Given the description of an element on the screen output the (x, y) to click on. 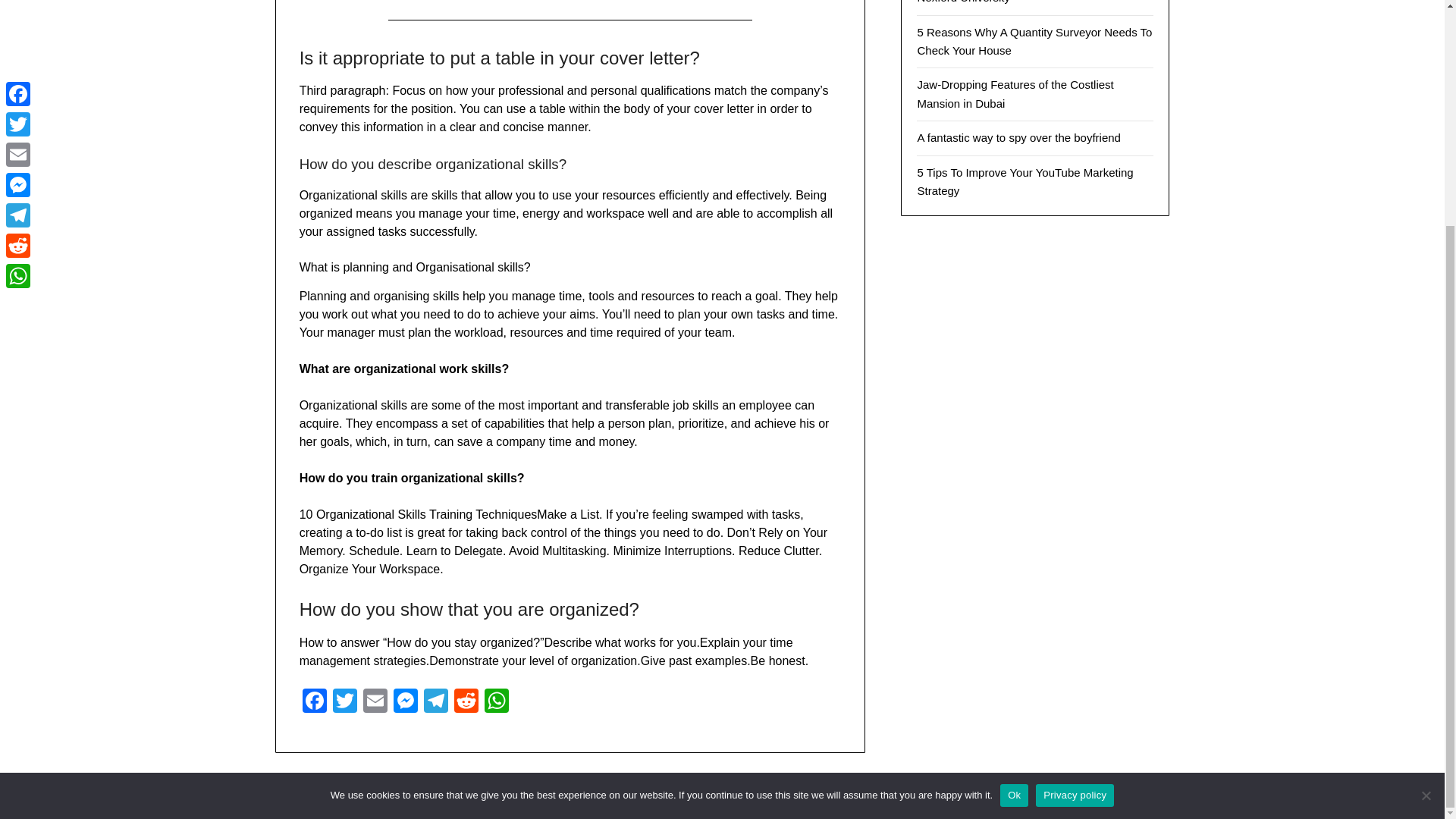
Telegram (435, 702)
Messenger (405, 702)
Twitter (344, 702)
WhatsApp (496, 702)
Reddit (466, 702)
Email (374, 702)
5 Reasons Why A Quantity Surveyor Needs To Check Your House (1034, 40)
Facebook (314, 702)
No (1425, 493)
Minimalist Blog (793, 797)
A fantastic way to spy over the boyfriend (1018, 137)
Email (374, 702)
Telegram (435, 702)
Facebook (314, 702)
Messenger (405, 702)
